Given the description of an element on the screen output the (x, y) to click on. 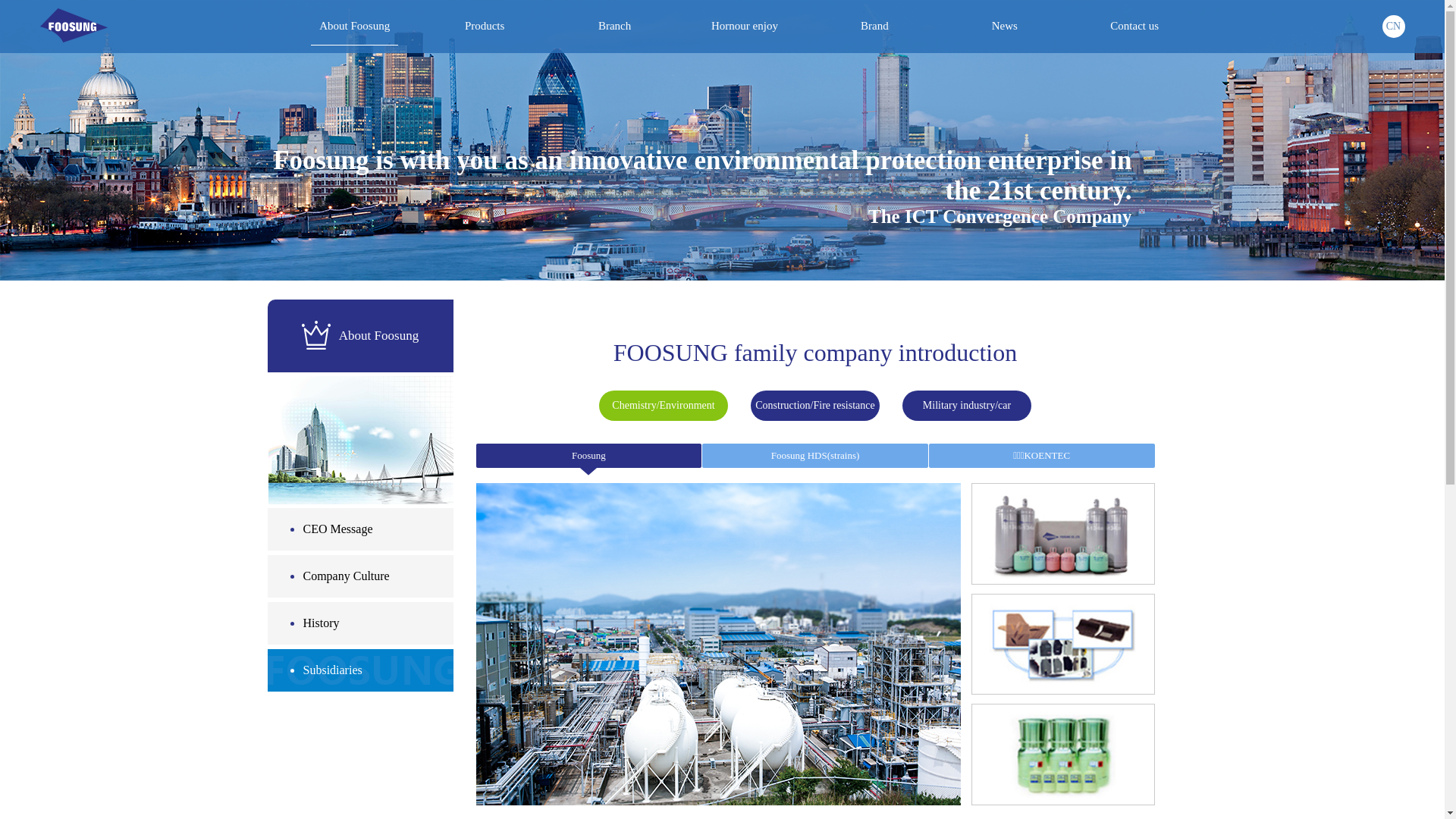
History Element type: text (359, 625)
Hornour enjoy Element type: text (743, 26)
Subsidiaries Element type: text (359, 672)
Military industry/car Element type: text (966, 405)
Chemistry/Environment Element type: text (663, 405)
Contact us Element type: text (1134, 26)
News Element type: text (1004, 26)
Construction/Fire resistance /IT Element type: text (814, 405)
Brand Element type: text (874, 26)
CEO Message Element type: text (359, 531)
About Foosung Element type: text (354, 26)
CN Element type: text (1392, 26)
Branch Element type: text (614, 26)
Products Element type: text (484, 26)
